Given the description of an element on the screen output the (x, y) to click on. 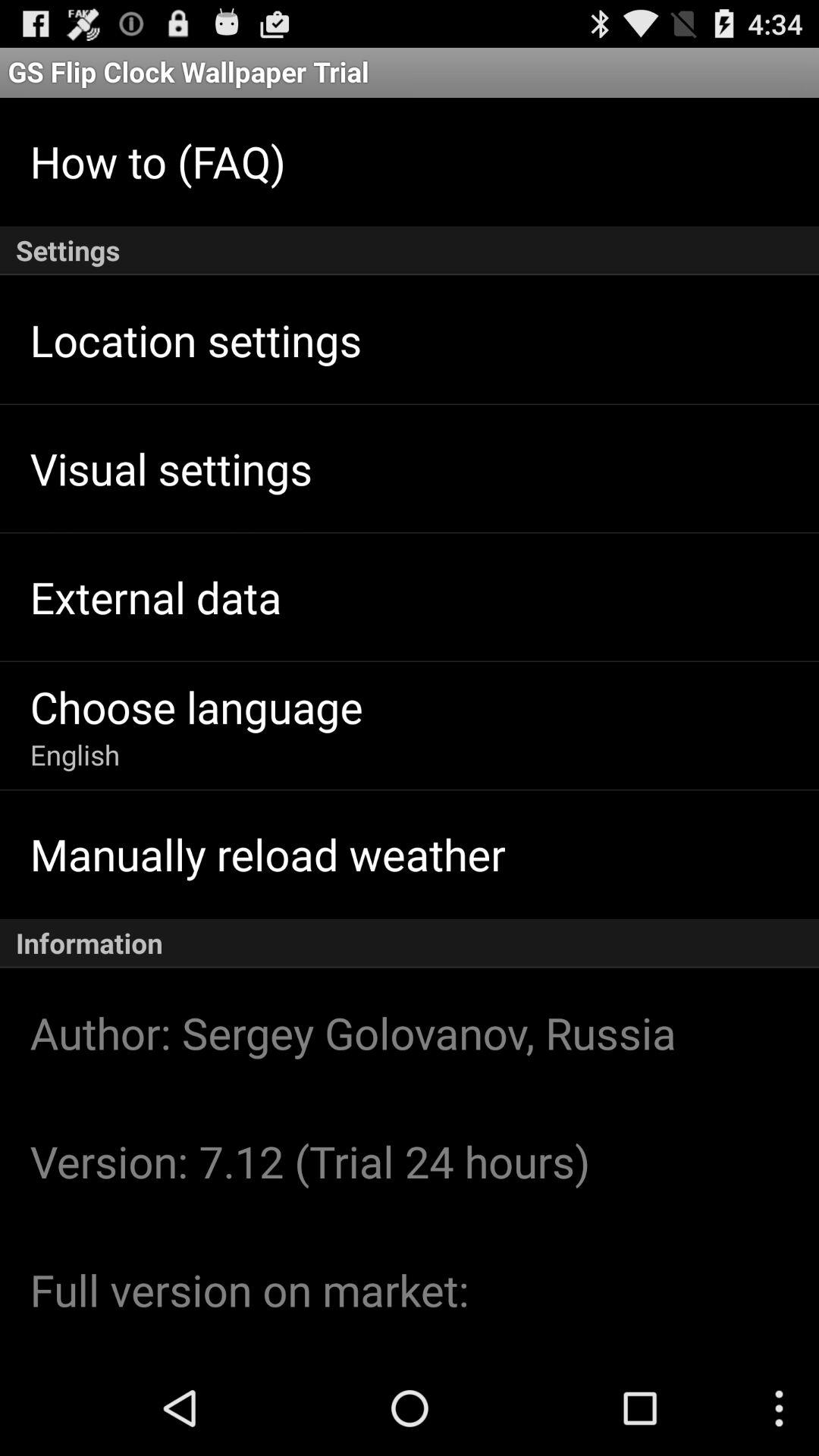
launch app above author sergey golovanov icon (409, 943)
